Given the description of an element on the screen output the (x, y) to click on. 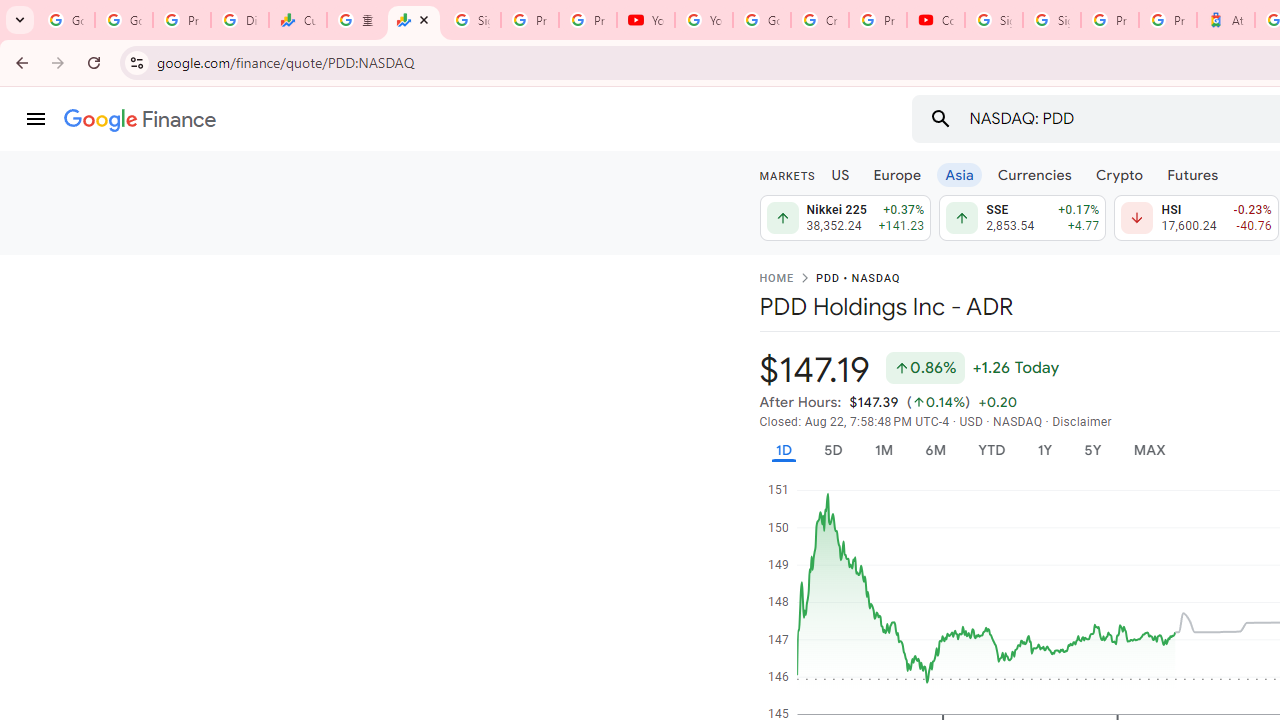
Nikkei 225 38,352.24 Up by 0.27% +141.23 (845, 218)
Atour Hotel - Google hotels (1225, 20)
Main menu (35, 119)
Europe (897, 174)
1Y (1044, 449)
6M (934, 449)
